Given the description of an element on the screen output the (x, y) to click on. 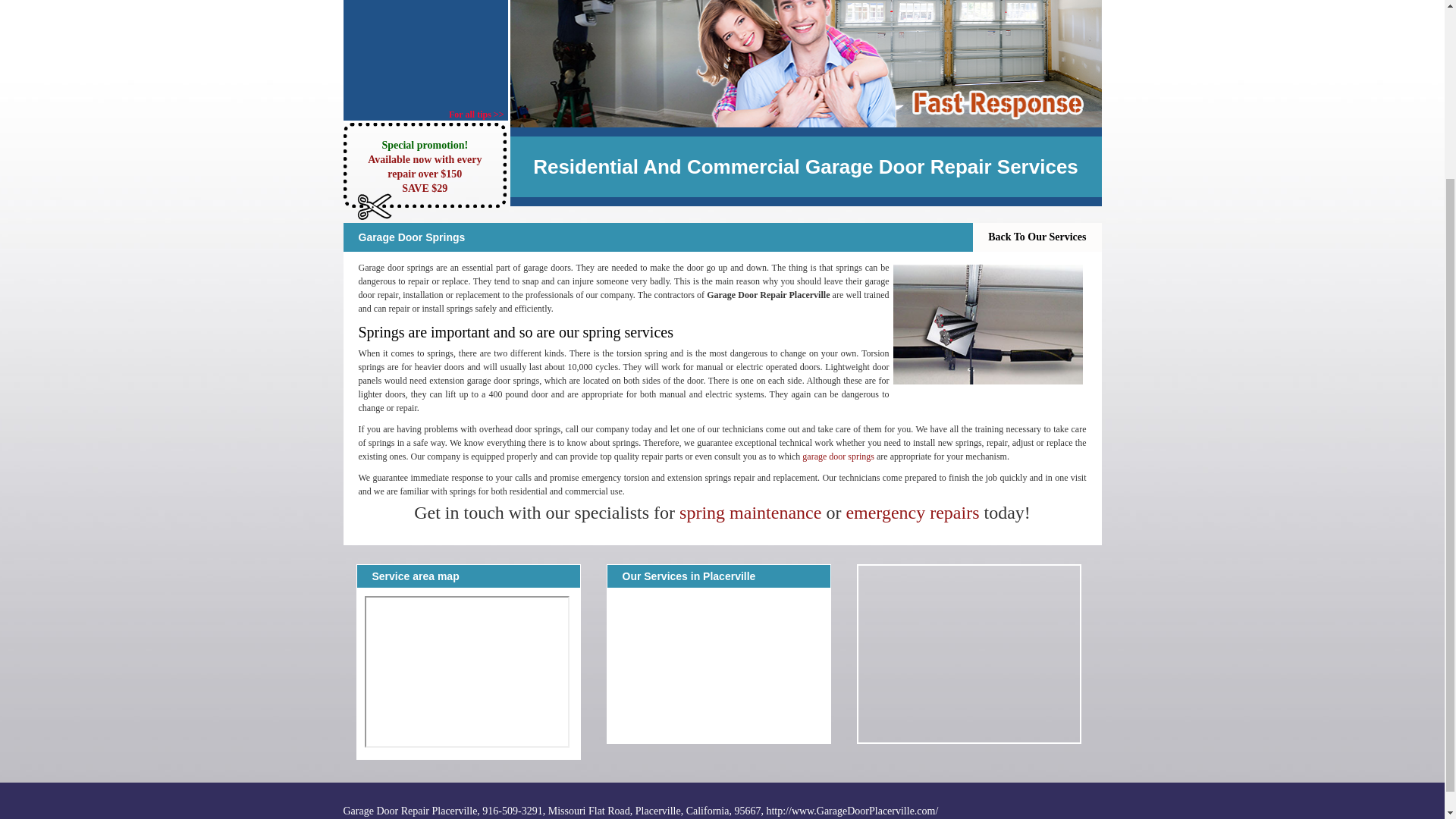
spring maintenance (750, 512)
spring maintenance (750, 512)
emergency repairs (911, 512)
Back To Our Services (1036, 236)
emergency repairs (911, 512)
Garage Door Repair Placerville (838, 456)
Garage Door Springs (988, 324)
garage door springs (838, 456)
